Given the description of an element on the screen output the (x, y) to click on. 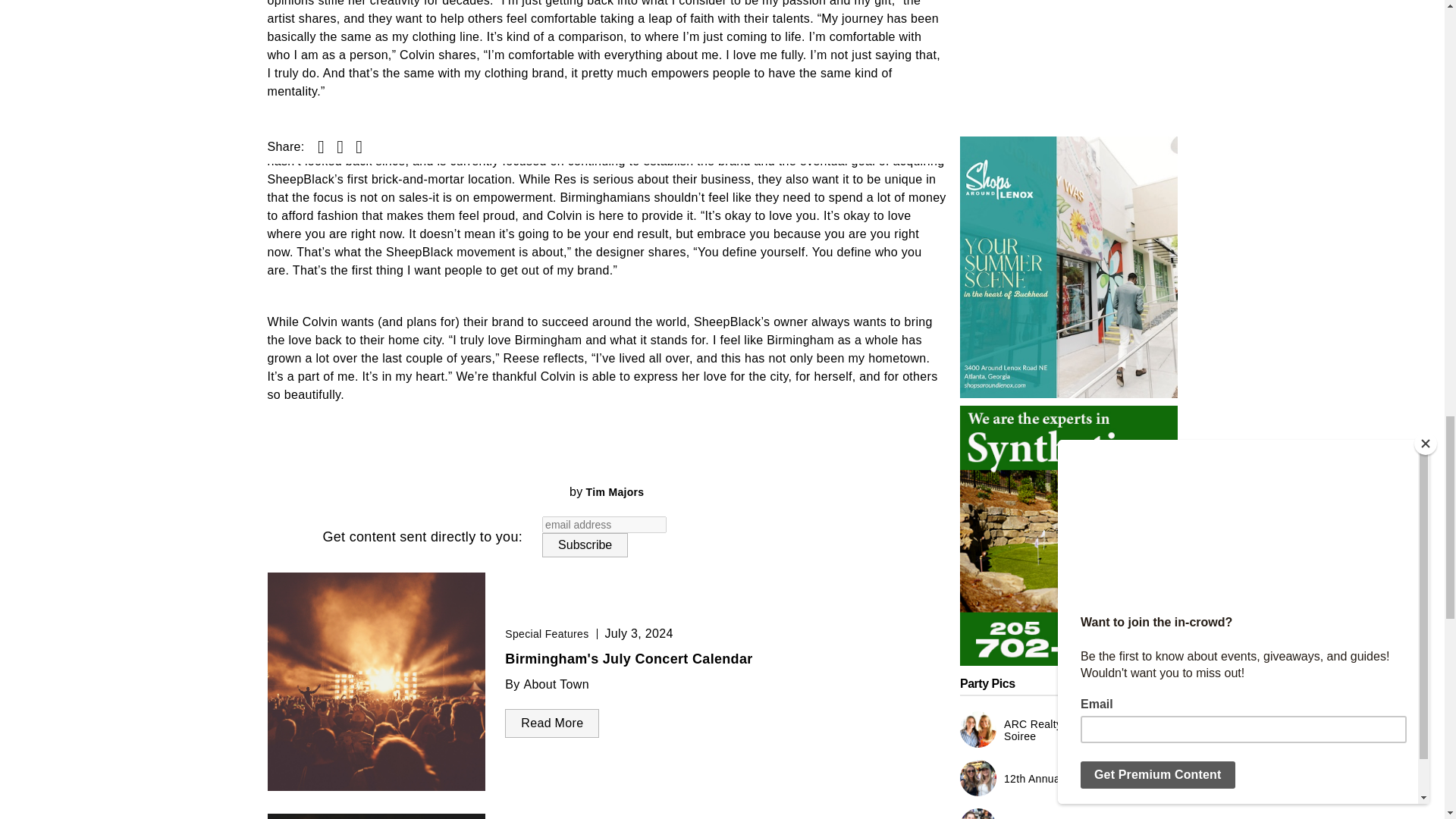
Subscribe (584, 545)
